Given the description of an element on the screen output the (x, y) to click on. 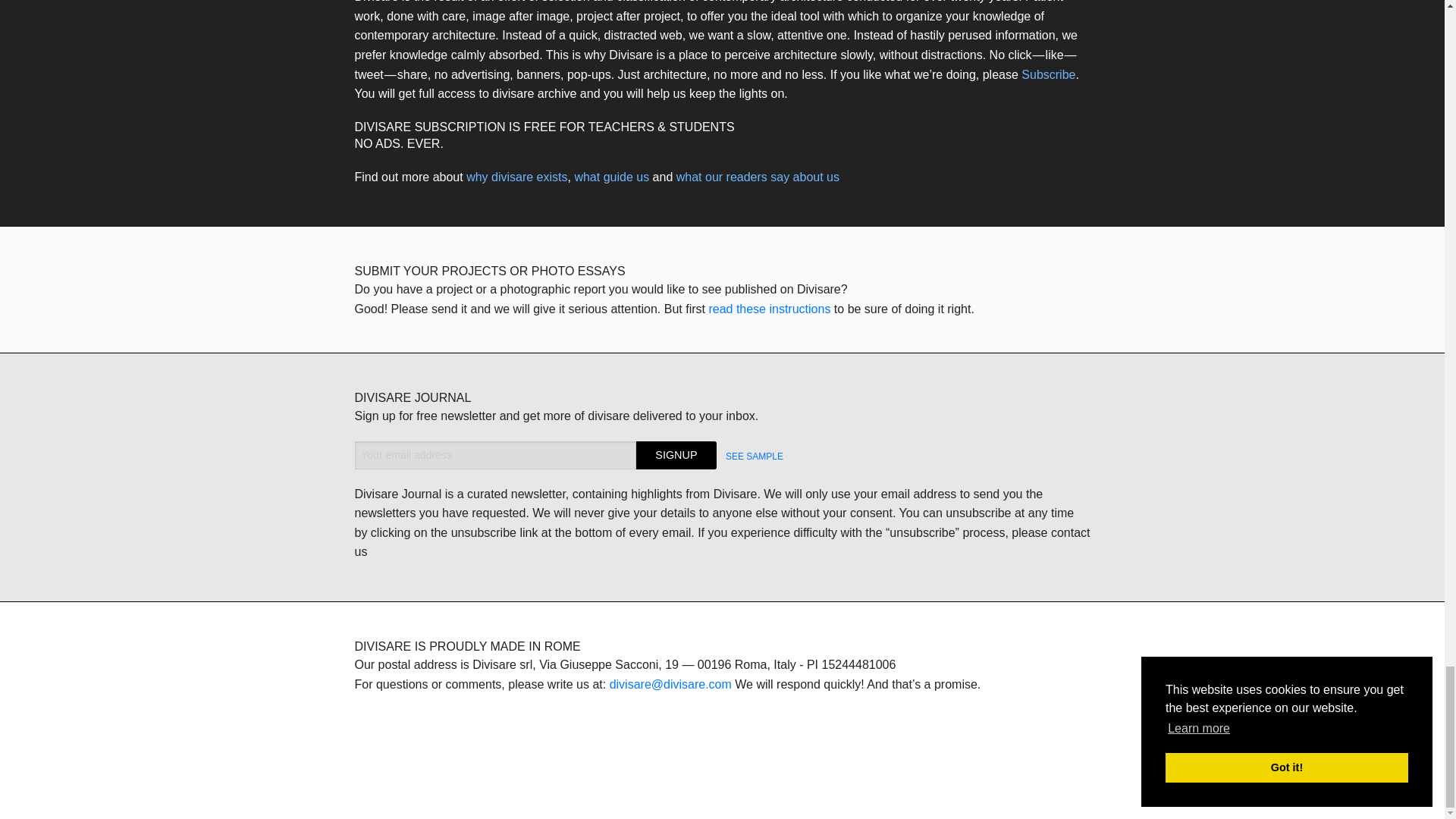
Signup (676, 455)
